Given the description of an element on the screen output the (x, y) to click on. 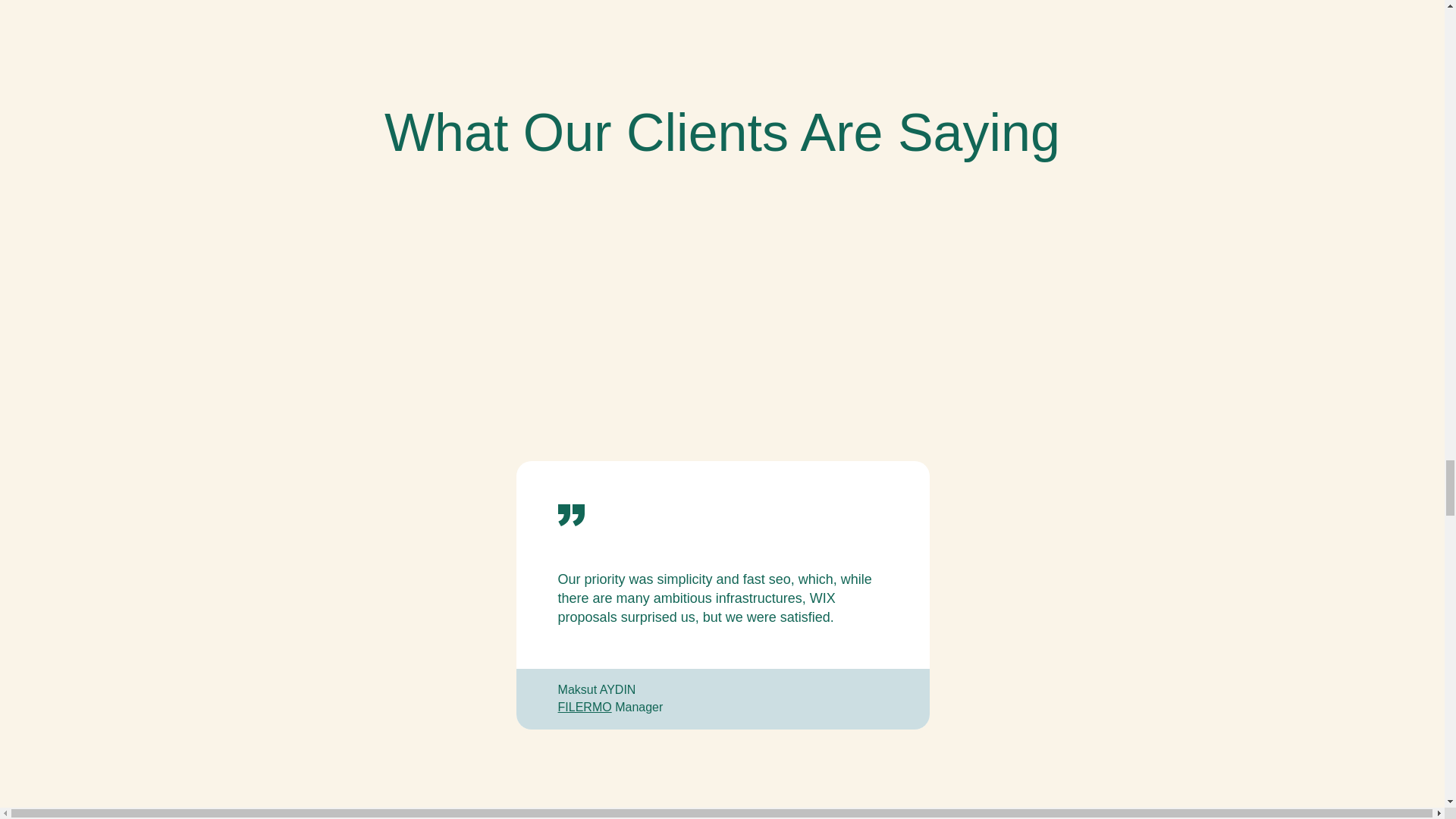
FILERMO (584, 707)
